Given the description of an element on the screen output the (x, y) to click on. 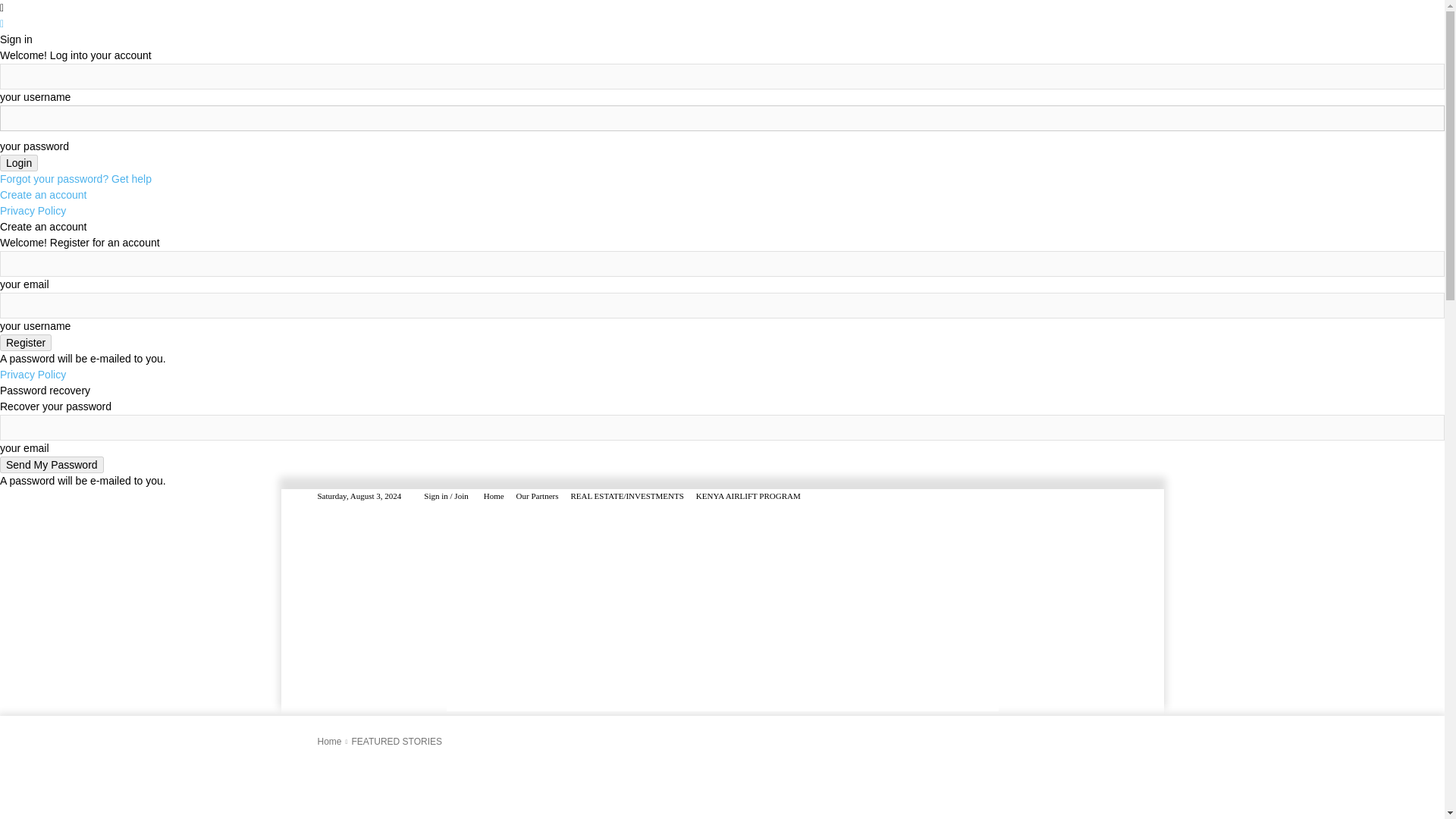
Our Partners (537, 496)
Forgot your password? Get help (75, 178)
Register (25, 342)
Home (493, 496)
KENYA DIASPORA NEWS (510, 624)
KENYA NEWS (398, 624)
Create an account (42, 194)
OBITUARIES (771, 624)
Privacy Policy (32, 210)
KENYA AIRLIFT PROGRAM (747, 496)
